Given the description of an element on the screen output the (x, y) to click on. 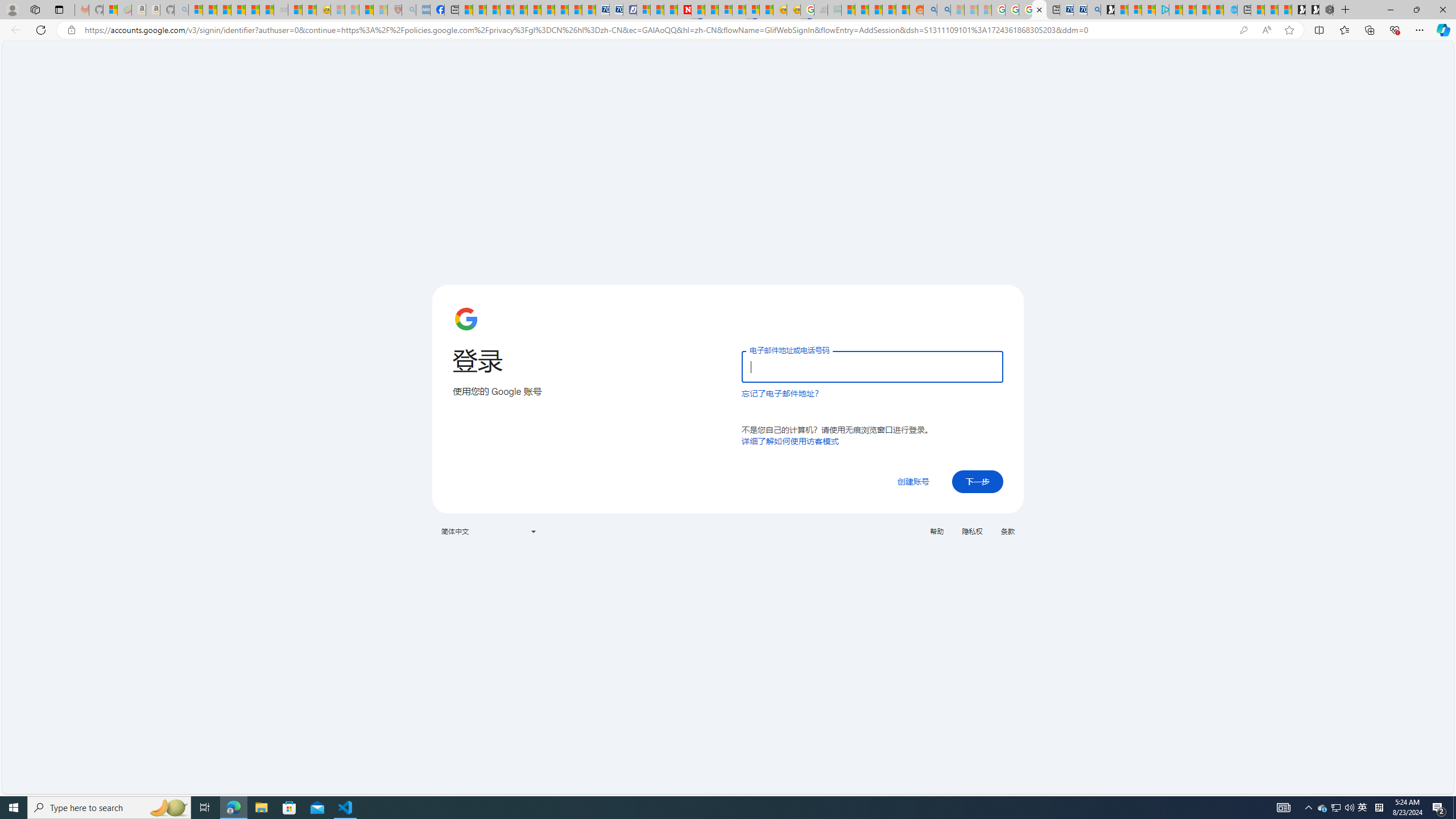
The Weather Channel - MSN (223, 9)
Newsweek - News, Analysis, Politics, Business, Technology (683, 9)
Climate Damage Becomes Too Severe To Reverse (506, 9)
12 Popular Science Lies that Must be Corrected - Sleeping (380, 9)
